Given the description of an element on the screen output the (x, y) to click on. 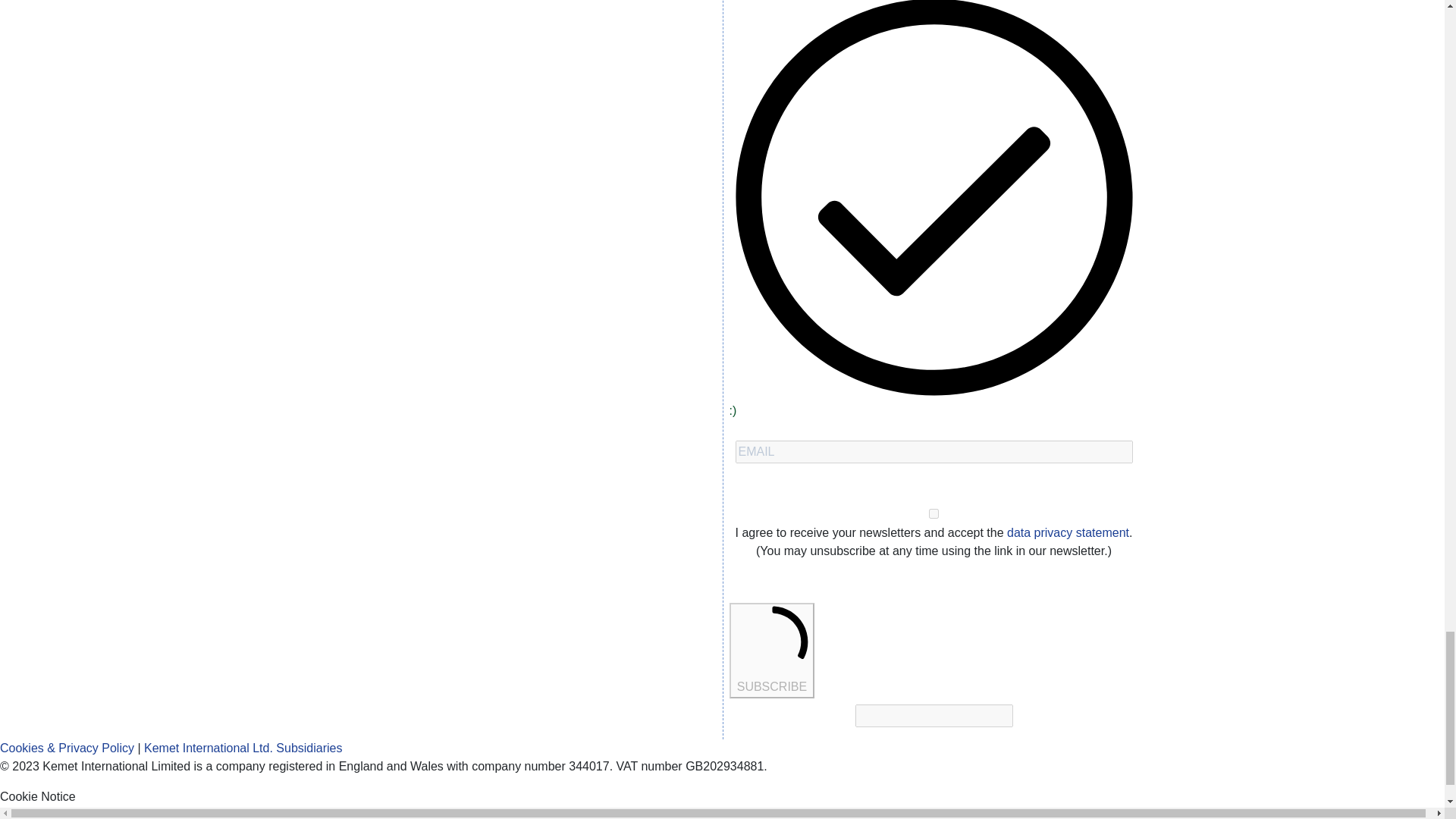
1 (933, 513)
